Given the description of an element on the screen output the (x, y) to click on. 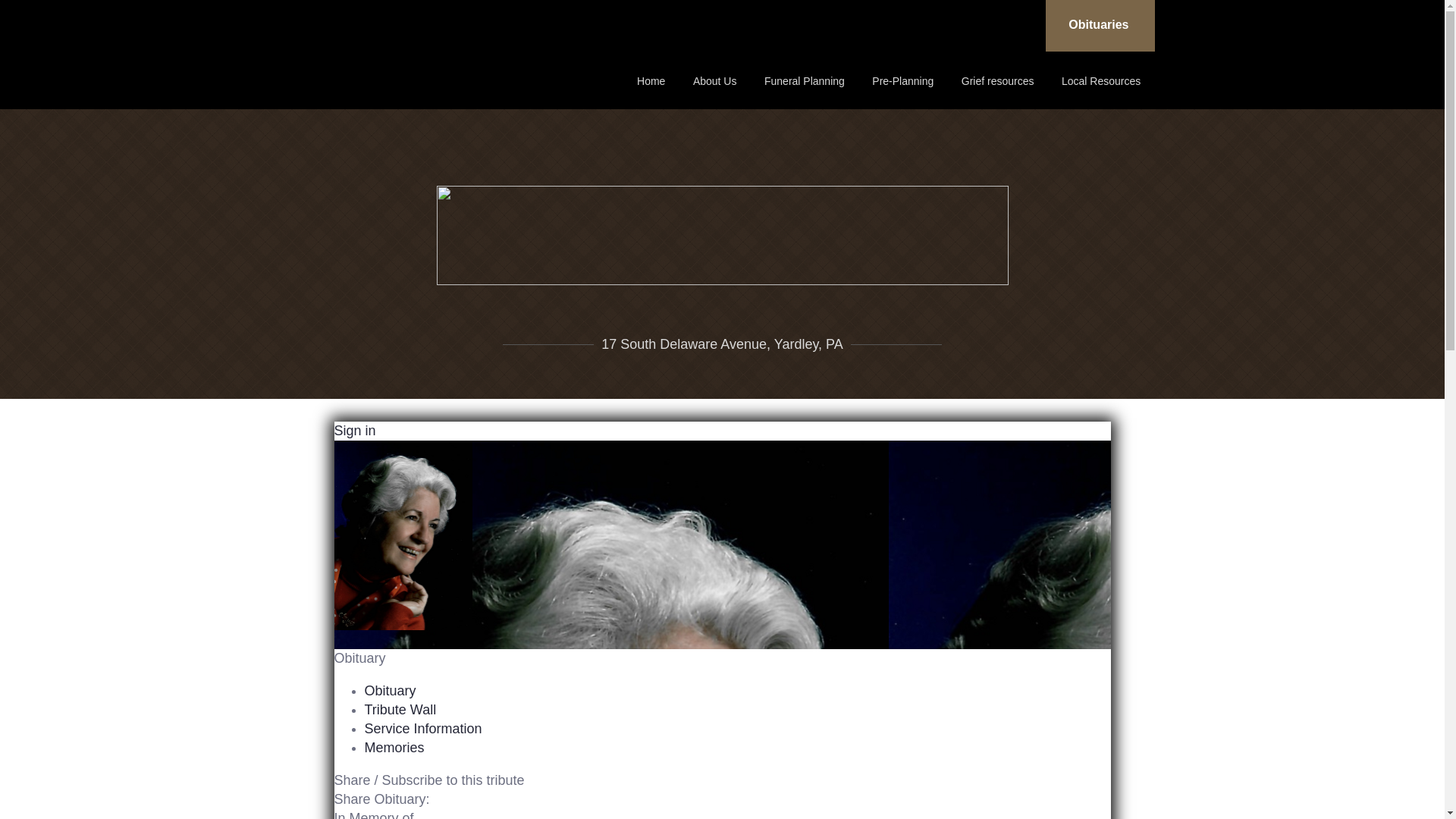
Memories (393, 747)
Sign in (354, 430)
Tribute Wall (399, 709)
About Us (714, 79)
Grief resources (997, 79)
Local Resources (1100, 79)
Funeral Planning (804, 79)
Obituaries (1099, 25)
Pre-Planning (902, 79)
Obituary (389, 690)
Home (651, 79)
Service Information (422, 728)
